Given the description of an element on the screen output the (x, y) to click on. 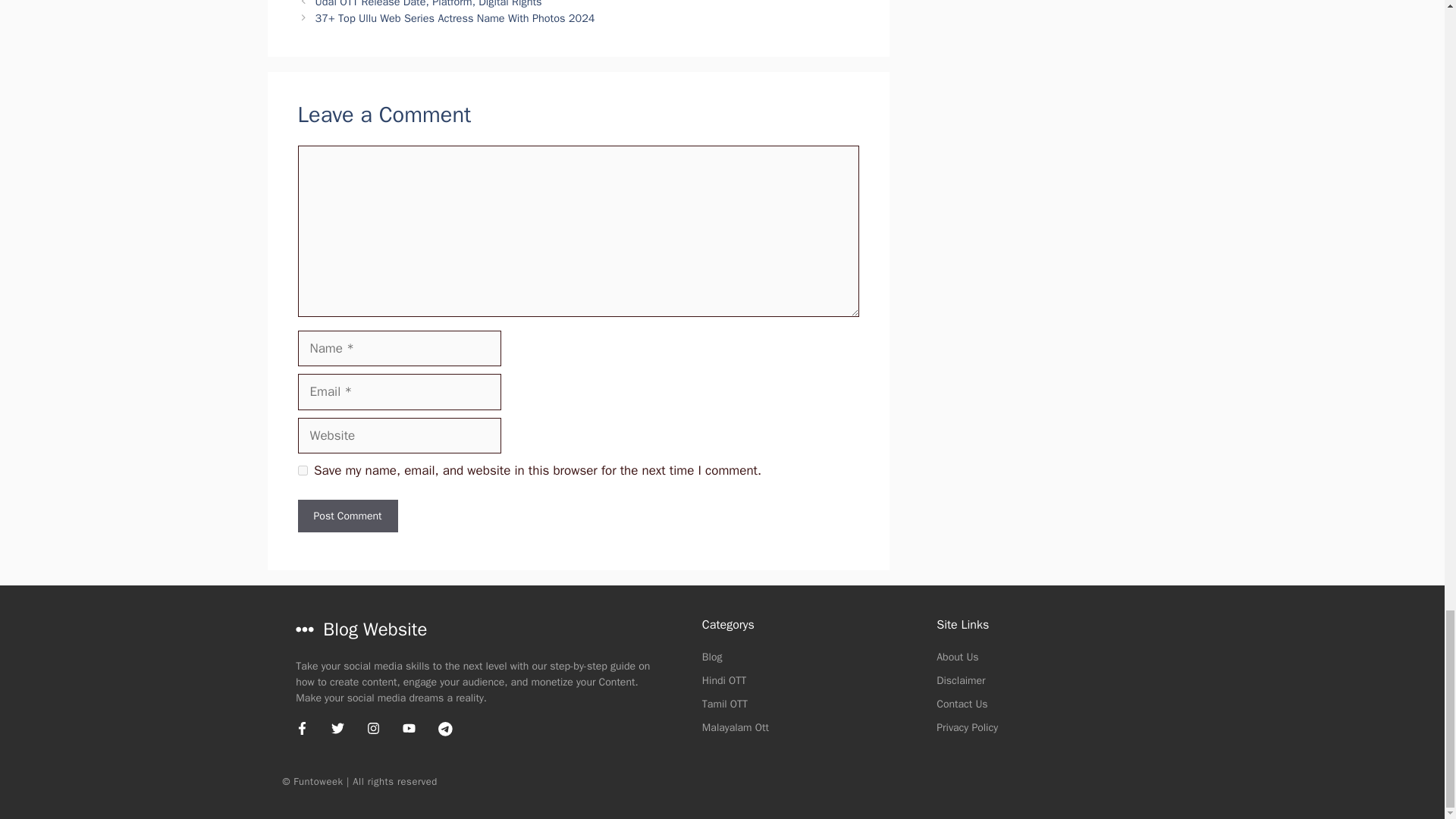
Post Comment (347, 515)
Post Comment (347, 515)
yes (302, 470)
Malayalam Ott (734, 727)
Udal OTT Release Date, Platform, Digital Rights (428, 4)
Tamil OTT (724, 703)
Hindi OTT (723, 680)
Blog (711, 656)
